Given the description of an element on the screen output the (x, y) to click on. 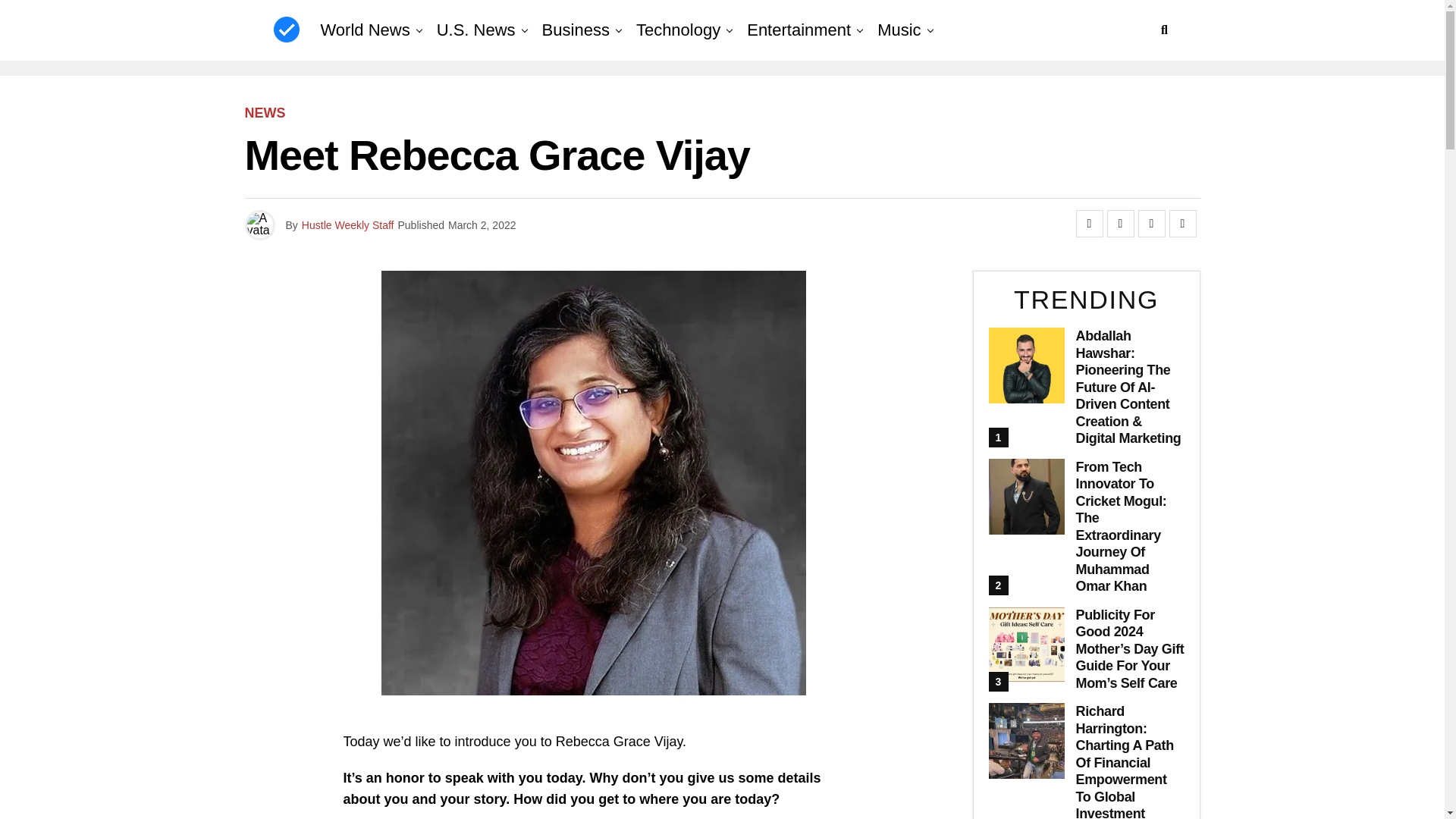
Tweet This Post (1120, 223)
Posts by Hustle Weekly Staff (347, 224)
U.S. News (475, 30)
Business (575, 30)
Technology (678, 30)
Share on Flipboard (1150, 223)
Music (898, 30)
Entertainment (799, 30)
Share on Facebook (1088, 223)
World News (364, 30)
